Given the description of an element on the screen output the (x, y) to click on. 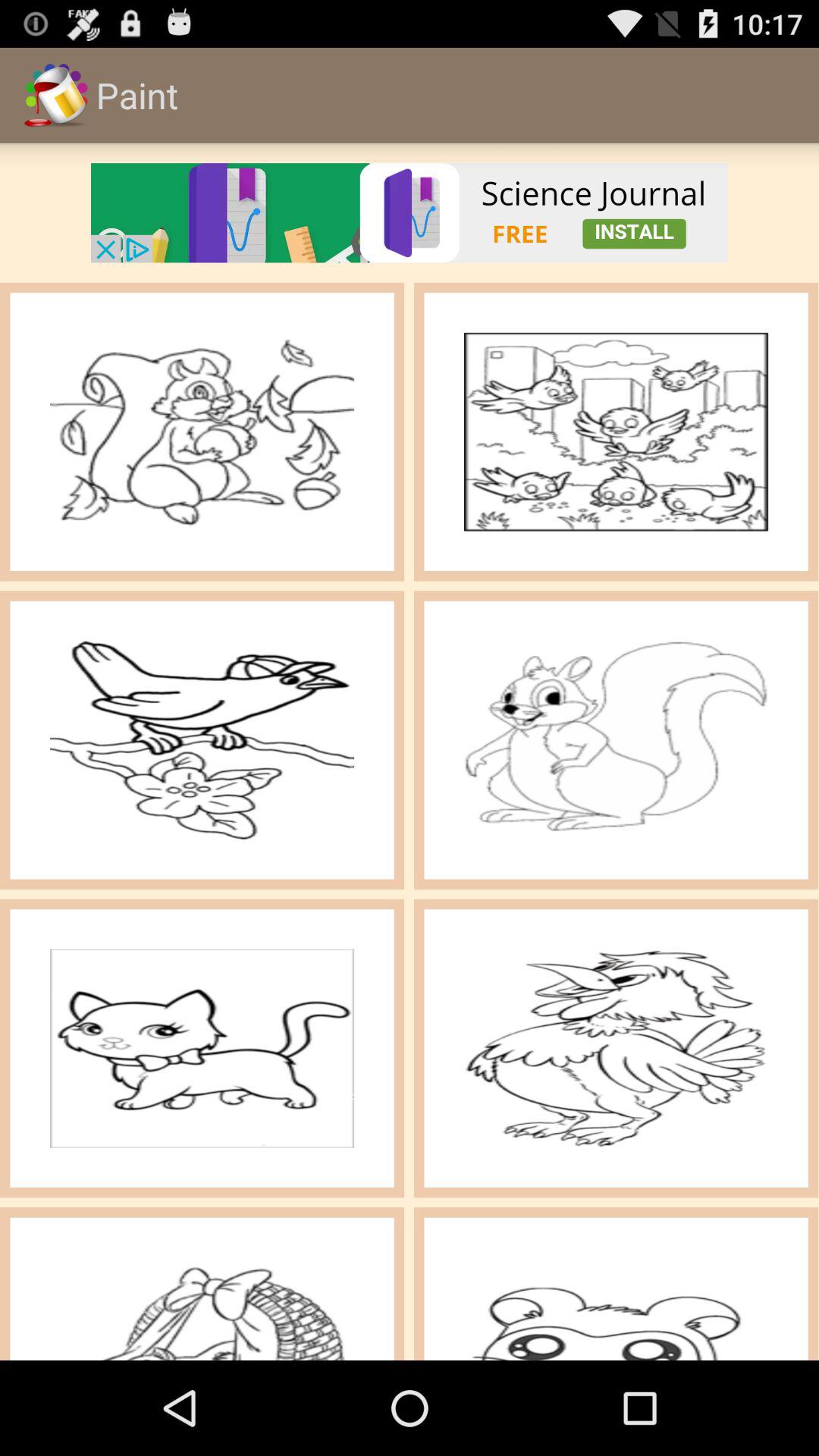
switch science journal advertisement (409, 212)
